Given the description of an element on the screen output the (x, y) to click on. 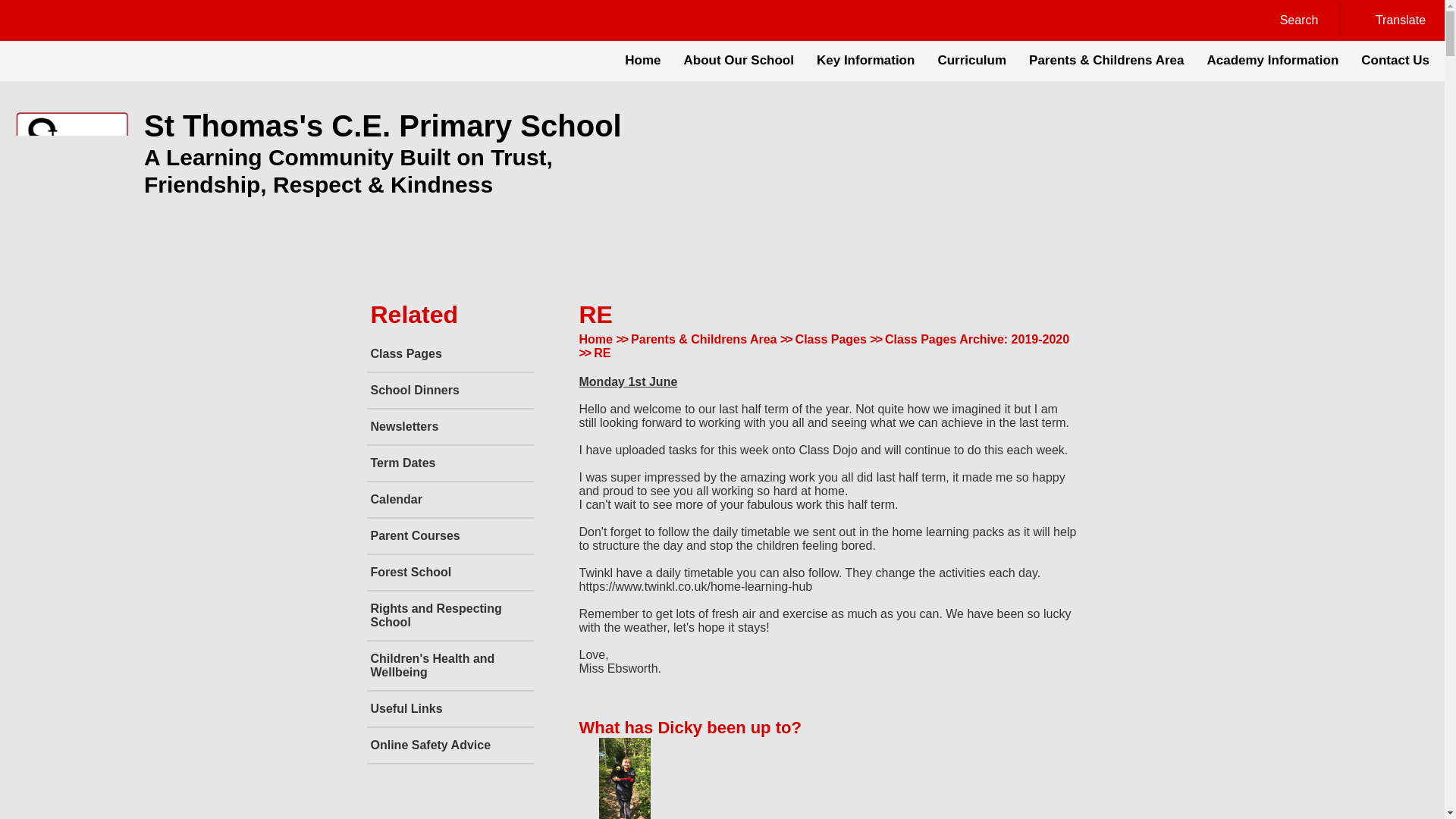
Home Page (71, 152)
About Our School (738, 60)
Key Information (865, 60)
Translate (1390, 20)
Search (1289, 20)
